Given the description of an element on the screen output the (x, y) to click on. 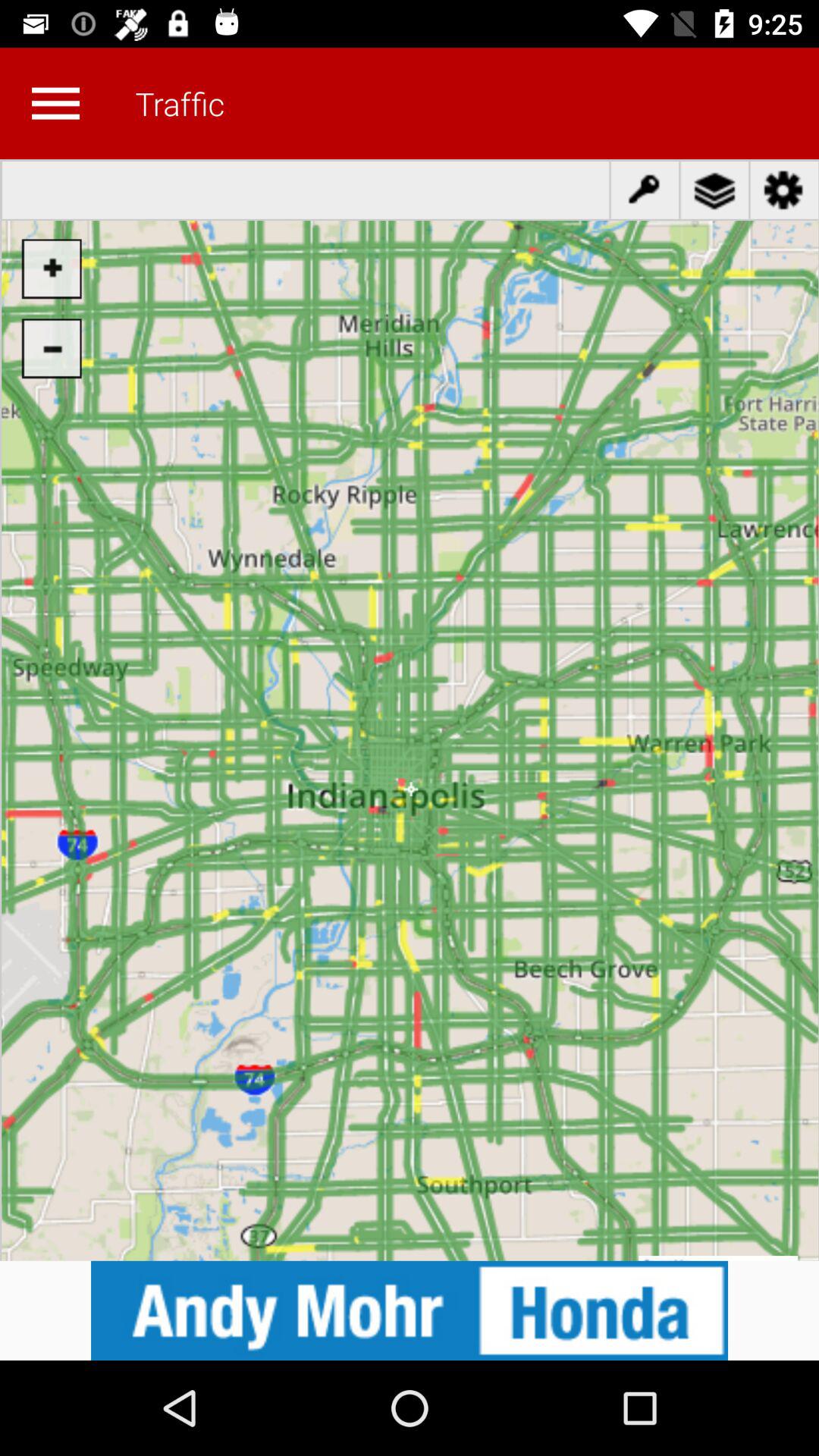
turn off the item at the center (409, 709)
